Given the description of an element on the screen output the (x, y) to click on. 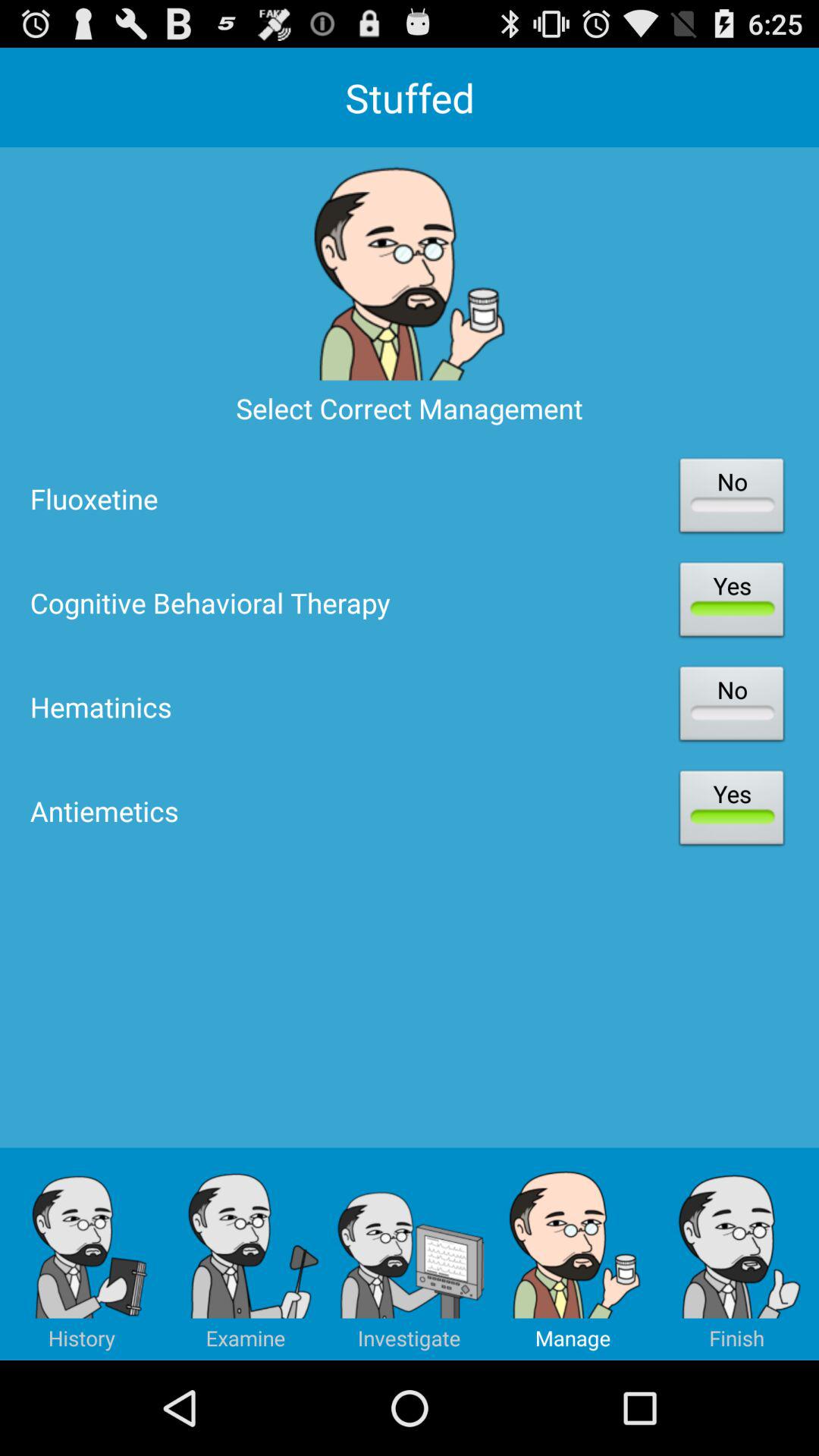
choose the icon below the antiemetics item (409, 1253)
